Given the description of an element on the screen output the (x, y) to click on. 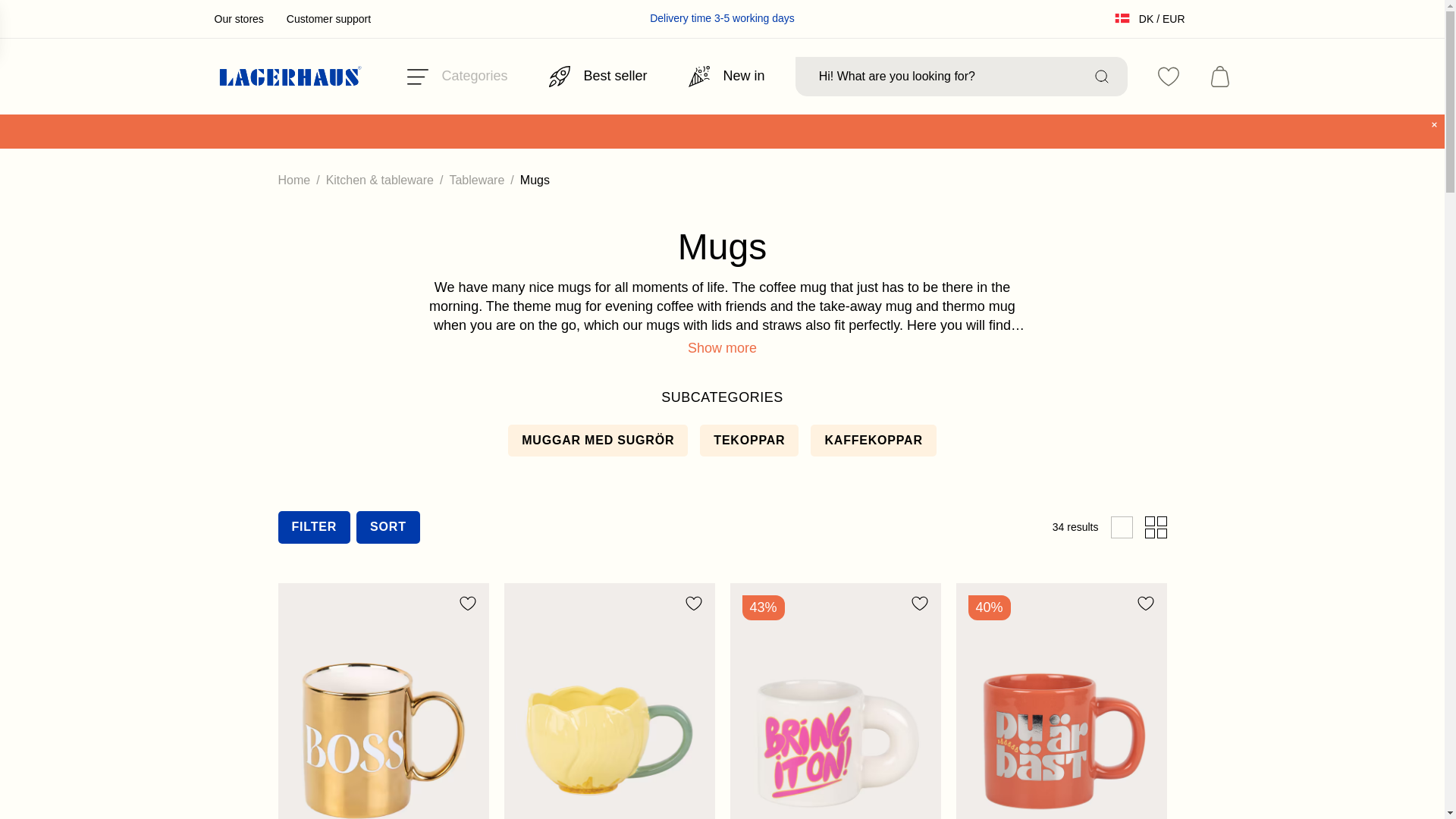
Categories (456, 76)
Best seller (597, 76)
Customer support (328, 18)
Our stores (238, 18)
New in (726, 76)
